Given the description of an element on the screen output the (x, y) to click on. 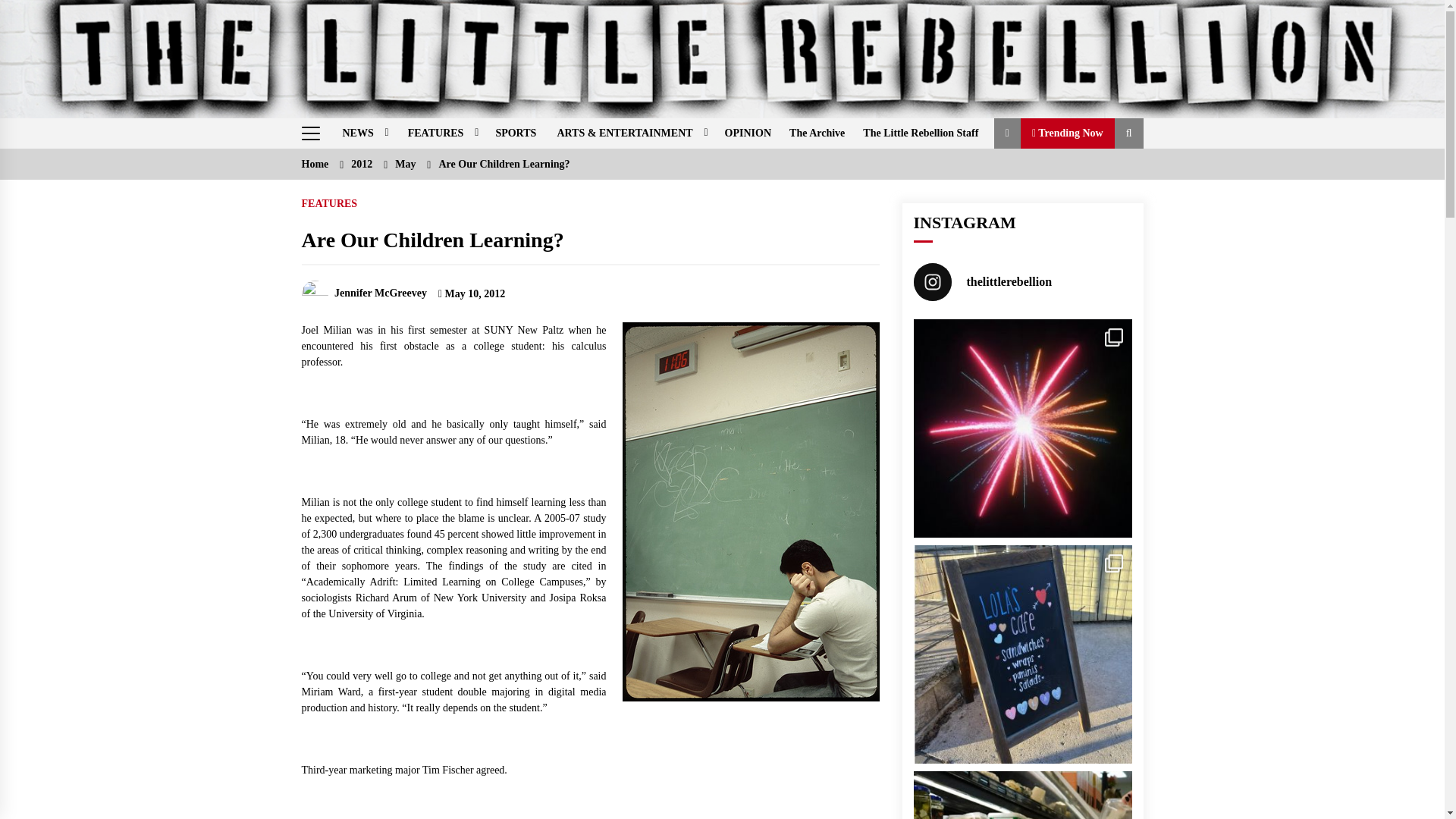
SPORTS (515, 132)
OPINION (748, 132)
The Archive (816, 132)
NEWS (363, 132)
FEATURES (441, 132)
The Little Rebellion Staff (920, 132)
